Given the description of an element on the screen output the (x, y) to click on. 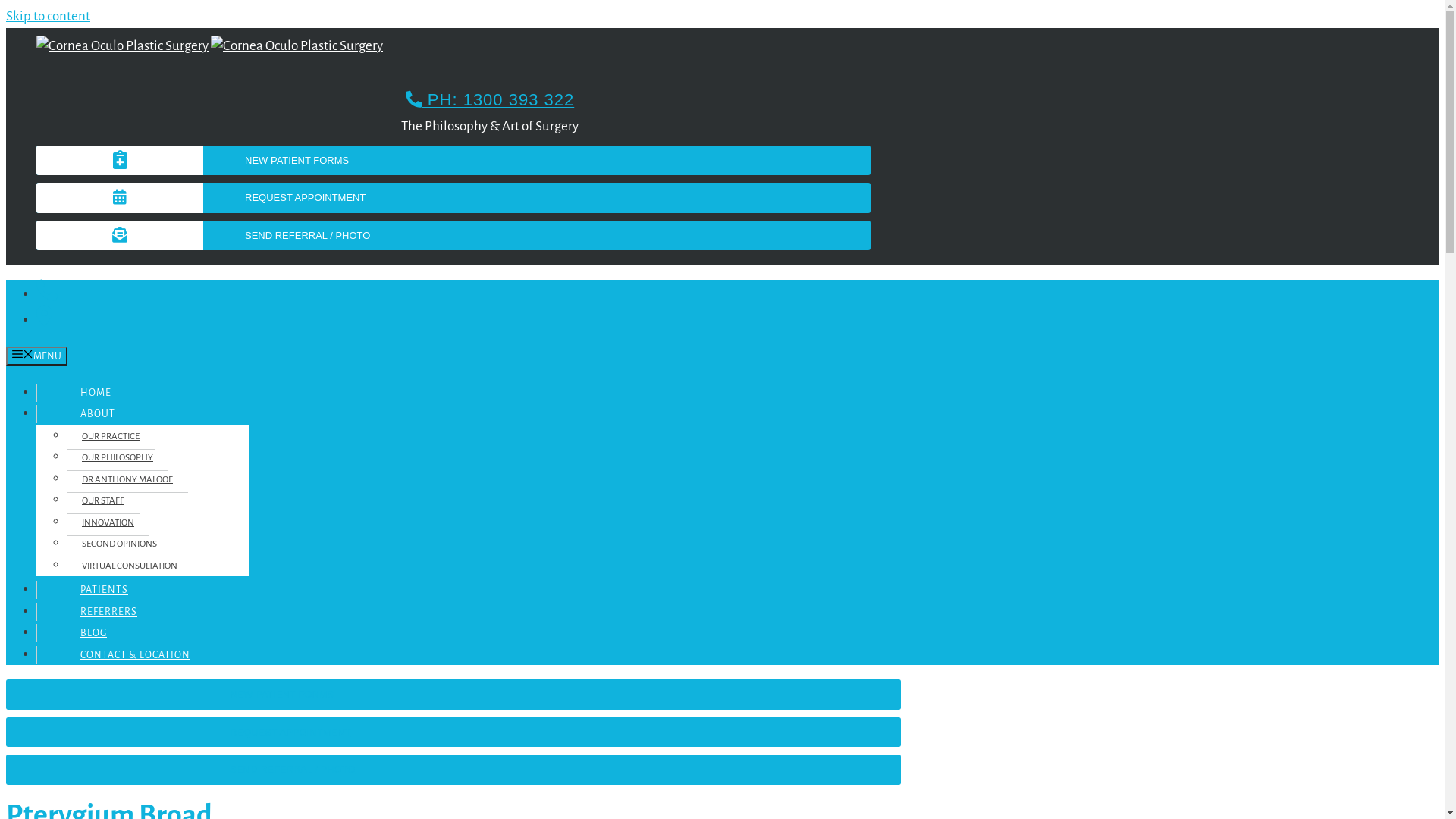
OUR STAFF Element type: text (102, 501)
INNOVATION Element type: text (107, 522)
ABOUT Element type: text (97, 413)
BLOG Element type: text (93, 633)
NEW PATIENT FORMS Element type: text (453, 694)
PH: 1300 393 322 Element type: text (489, 99)
REFERRERS Element type: text (108, 611)
MENU Element type: text (36, 355)
OUR PRACTICE Element type: text (110, 435)
DR ANTHONY MALOOF Element type: text (127, 479)
PATIENTS Element type: text (103, 589)
SEND REFERRAL / PHOTO Element type: text (453, 769)
CONTACT & LOCATION Element type: text (135, 655)
OUR PHILOSOPHY Element type: text (117, 457)
Skip to content Element type: text (48, 16)
HOME Element type: text (95, 392)
SEND REFERRAL / PHOTO Element type: text (453, 234)
VIRTUAL CONSULTATION Element type: text (129, 566)
REQUEST APPOINTMENT Element type: text (453, 197)
SECOND OPINIONS Element type: text (119, 544)
REQUEST APPOINTMENT Element type: text (453, 732)
NEW PATIENT FORMS Element type: text (453, 160)
